Given the description of an element on the screen output the (x, y) to click on. 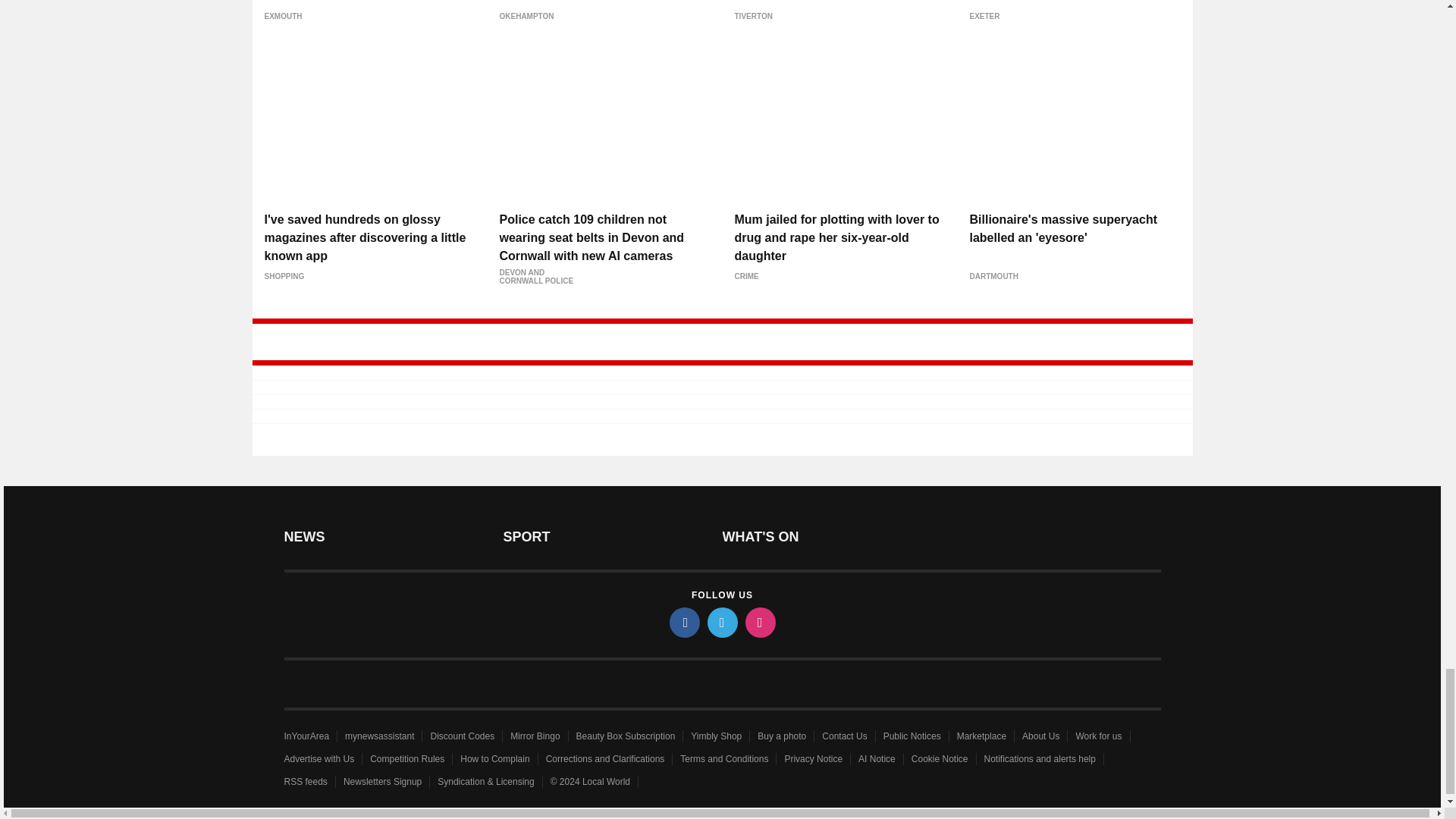
facebook (683, 622)
instagram (759, 622)
twitter (721, 622)
